Given the description of an element on the screen output the (x, y) to click on. 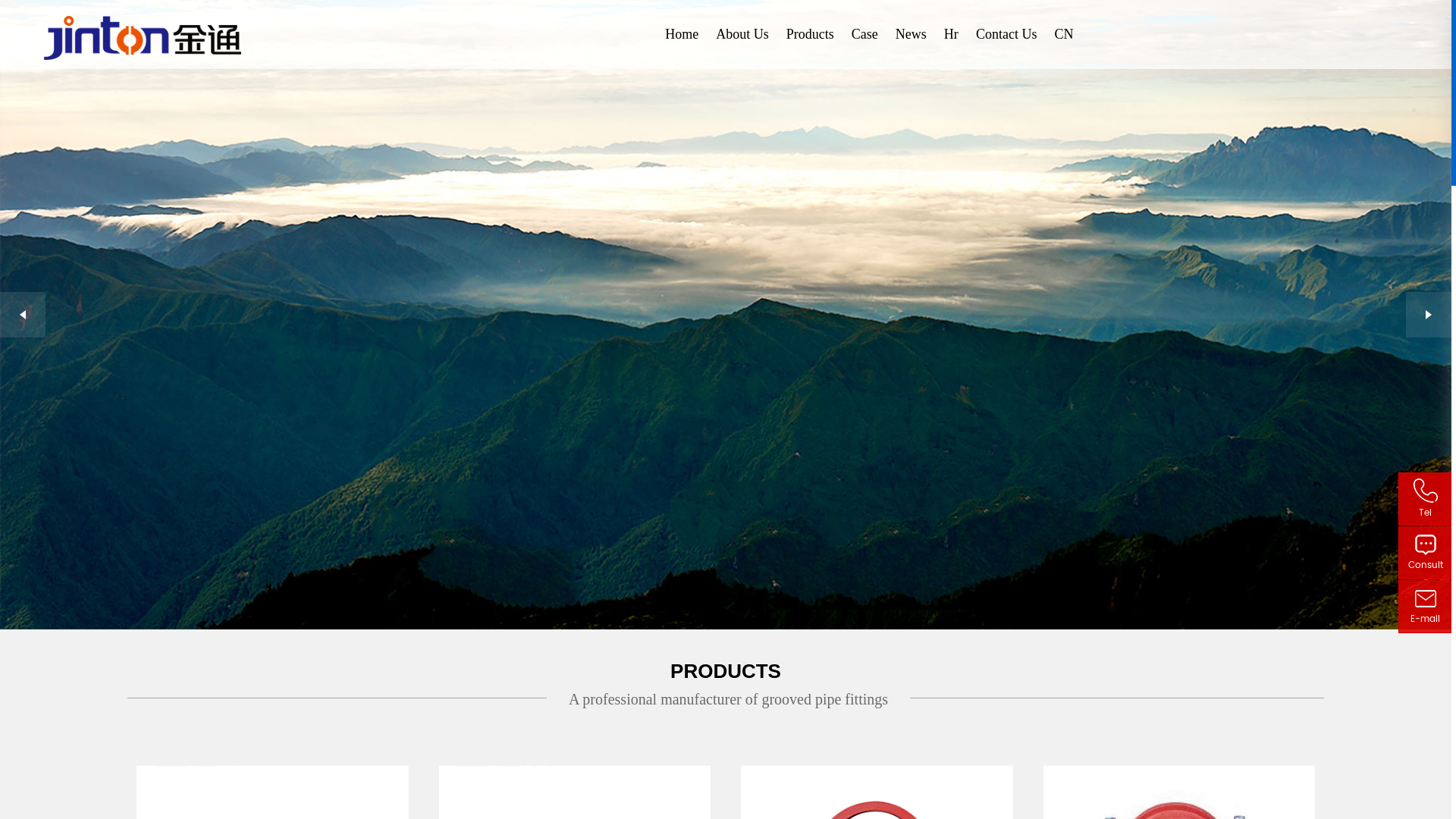
Hr Element type: text (951, 34)
Case Element type: text (864, 34)
Contact Us Element type: text (1006, 34)
E-mail Element type: text (1425, 606)
Tel Element type: text (1425, 498)
Consult Element type: text (1425, 552)
CN Element type: text (1063, 34)
News Element type: text (910, 34)
Home Element type: text (681, 34)
Products Element type: text (810, 34)
About Us Element type: text (741, 34)
